Given the description of an element on the screen output the (x, y) to click on. 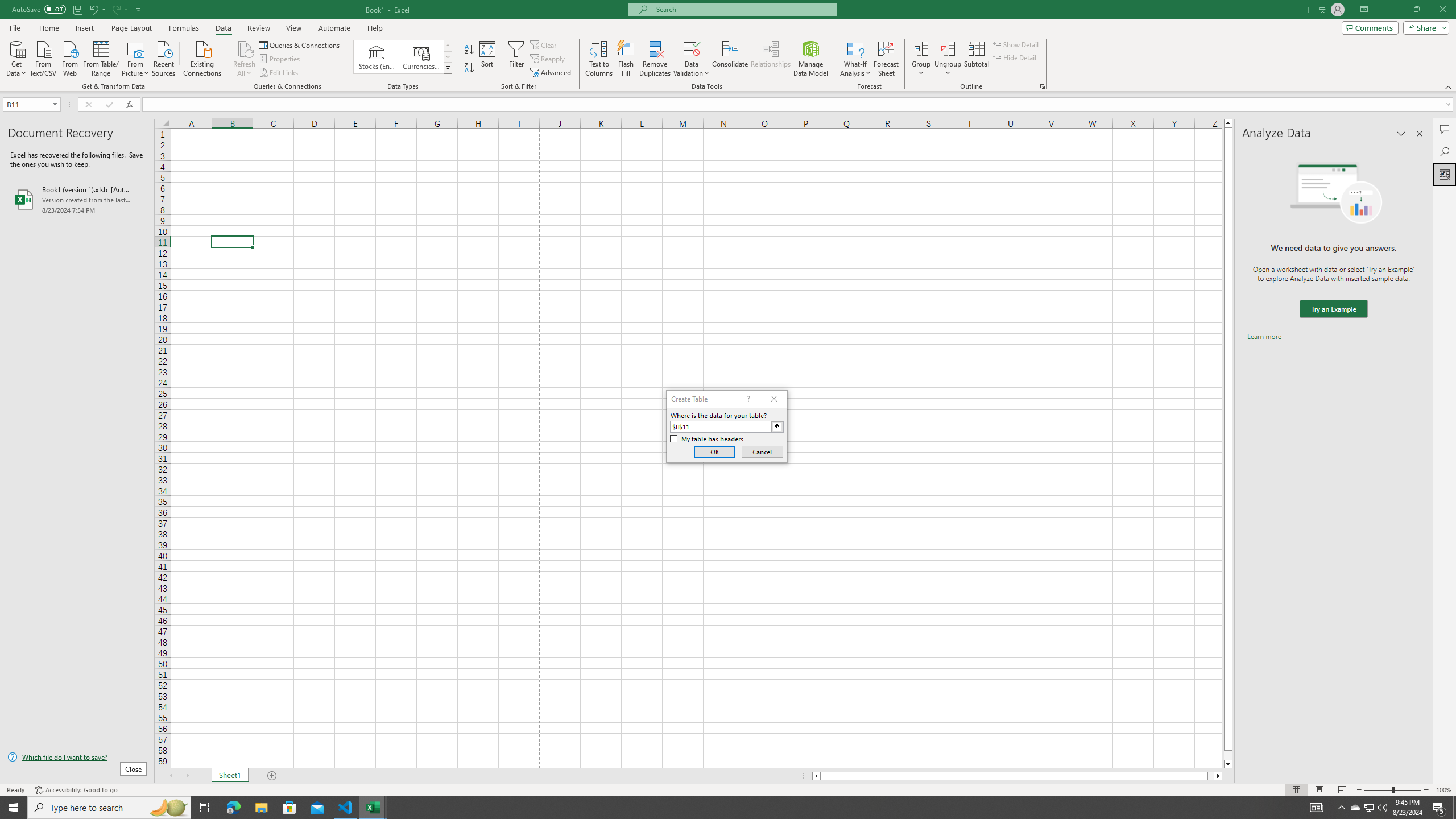
Formula Bar (799, 104)
Page Layout (131, 28)
Sheet1 (229, 775)
